Given the description of an element on the screen output the (x, y) to click on. 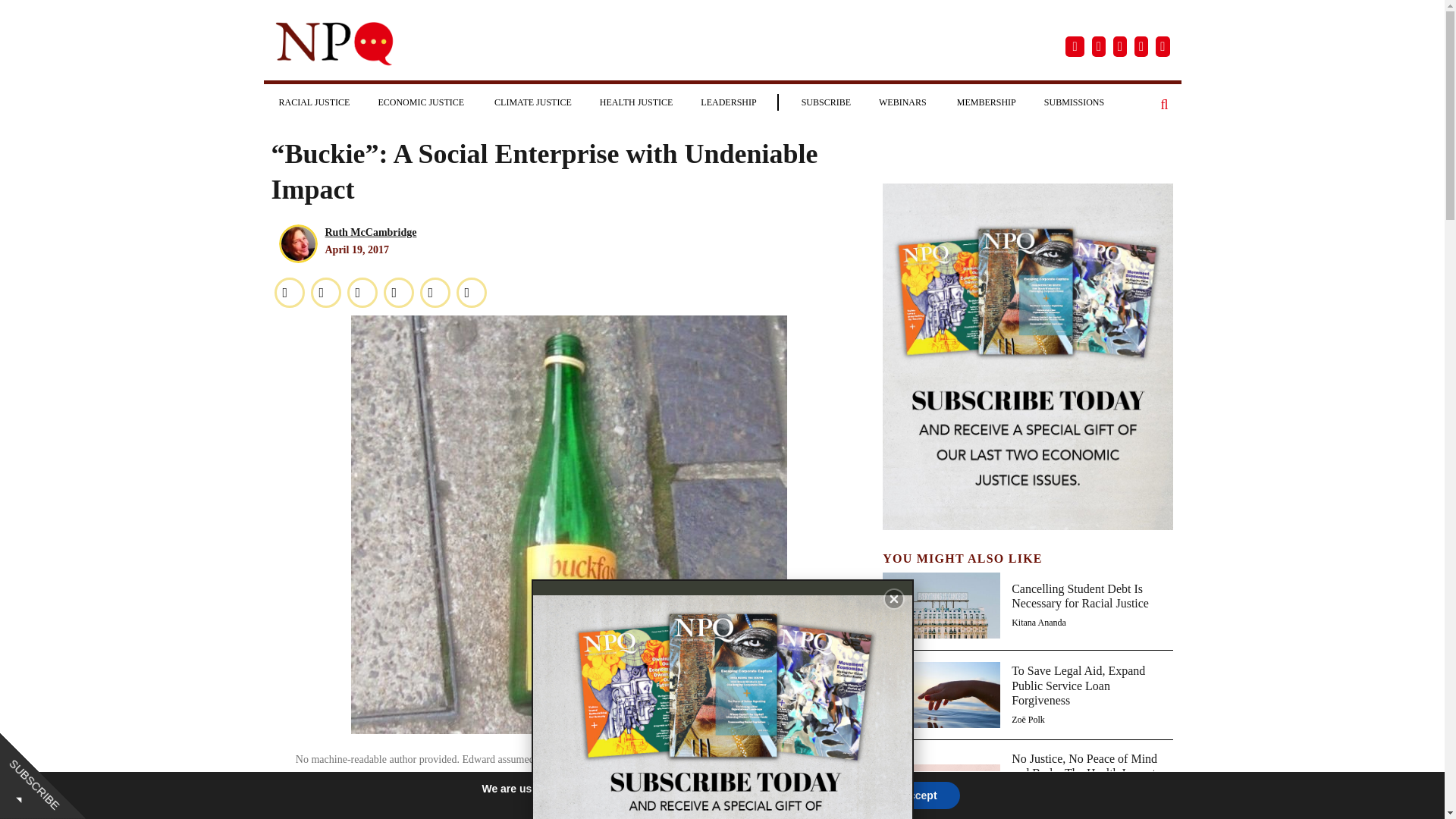
LEADERSHIP (727, 102)
SUBSCRIBE (826, 102)
DevonLive.com (401, 811)
CLIMATE JUSTICE (532, 102)
Search (1164, 104)
Leadership (727, 102)
SUBMISSIONS (1074, 102)
Health Justice (636, 102)
WEBINARS (903, 102)
Climate Justice (532, 102)
Economic Justice (421, 102)
ECONOMIC JUSTICE (421, 102)
Posts by Ruth McCambridge (370, 232)
Submissions (1074, 102)
HEALTH JUSTICE (636, 102)
